Given the description of an element on the screen output the (x, y) to click on. 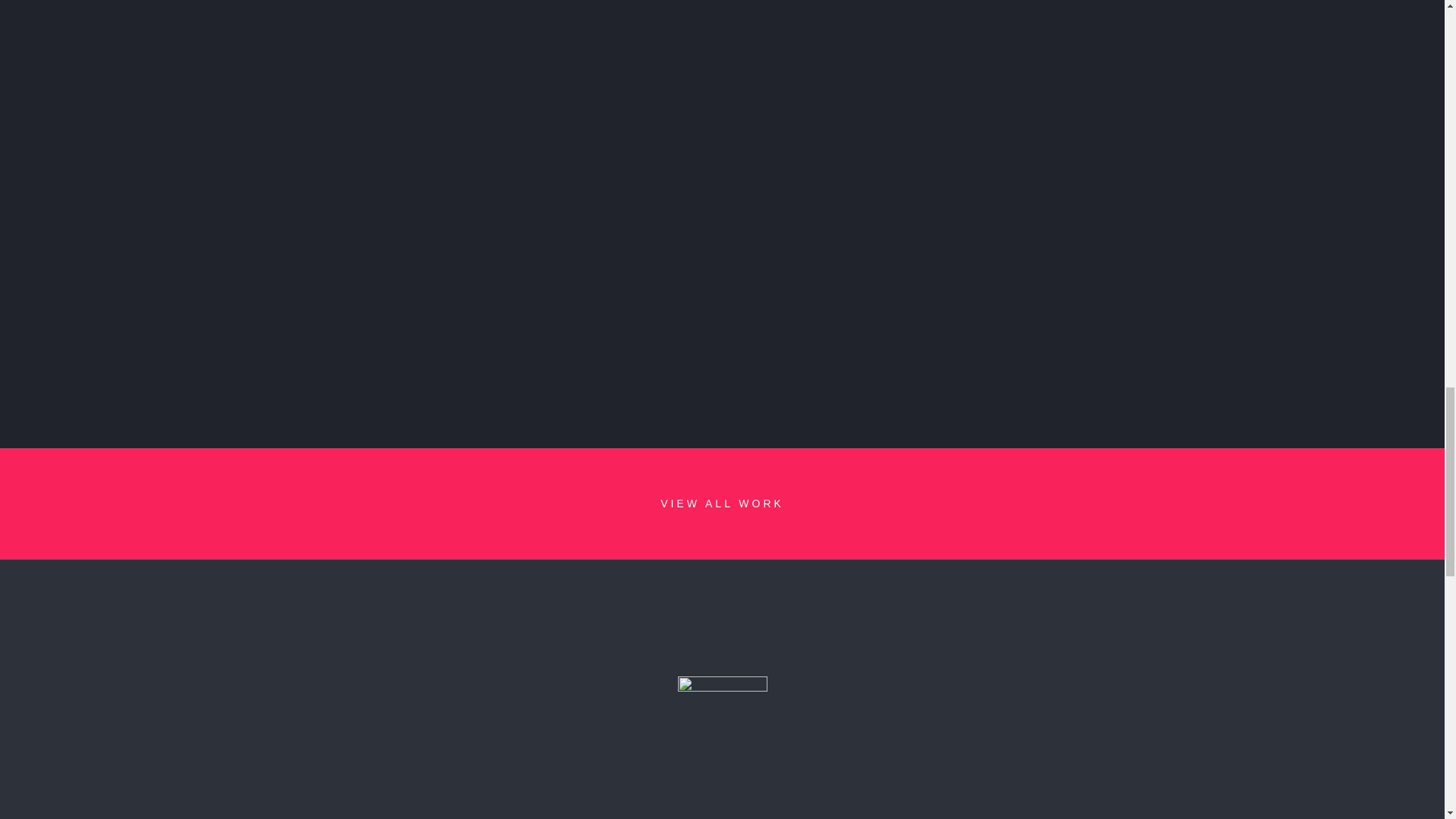
quotes (722, 707)
